Given the description of an element on the screen output the (x, y) to click on. 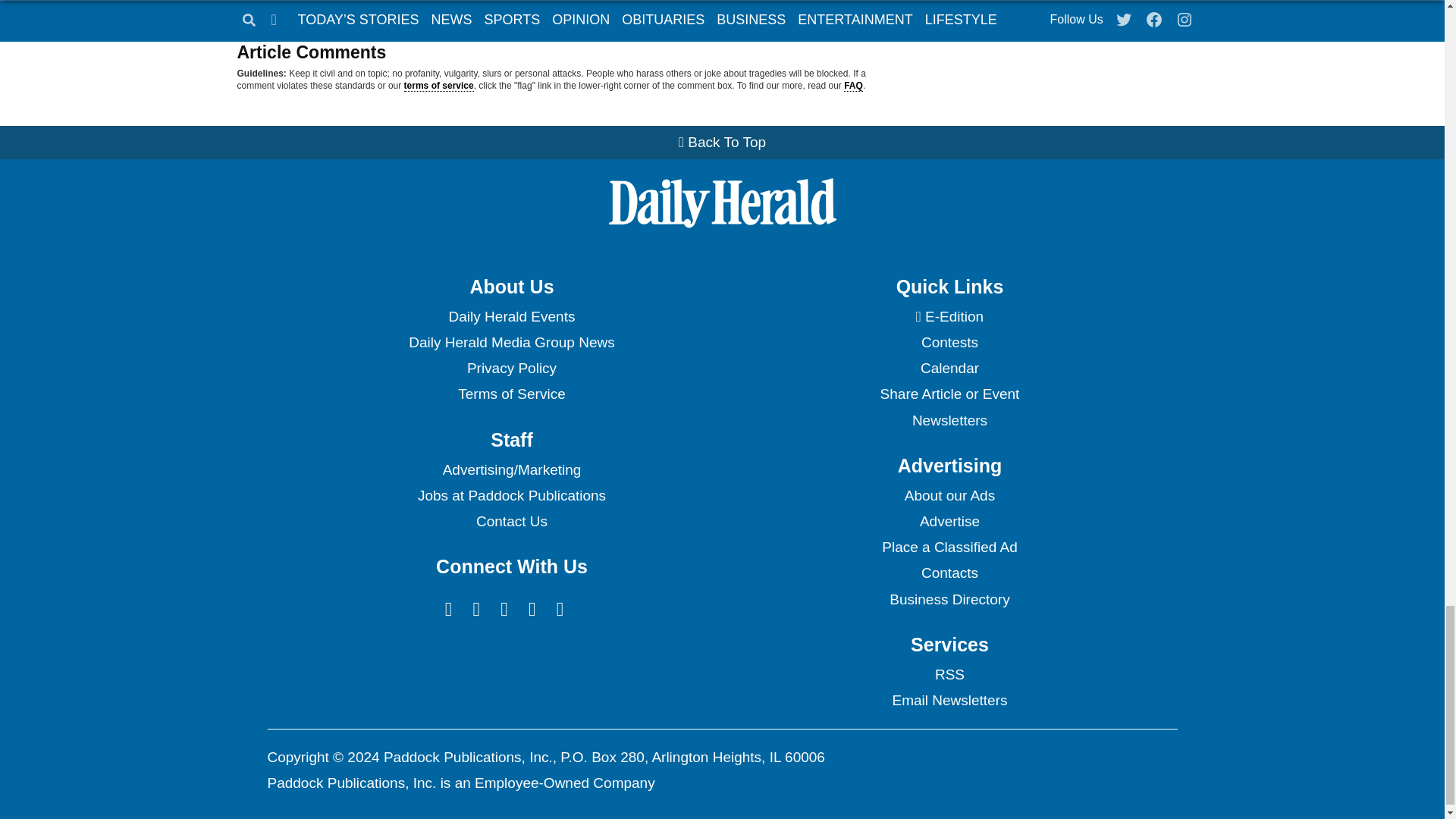
Privacy Policy (511, 368)
Contact Us (511, 521)
Daily Herald Digital Newspaper (949, 316)
Daily Herald Media Group News (511, 342)
Daily Herald Events (511, 316)
Contests (949, 342)
Jobs at Paddock Publications (511, 495)
Terms of Service (511, 394)
